Given the description of an element on the screen output the (x, y) to click on. 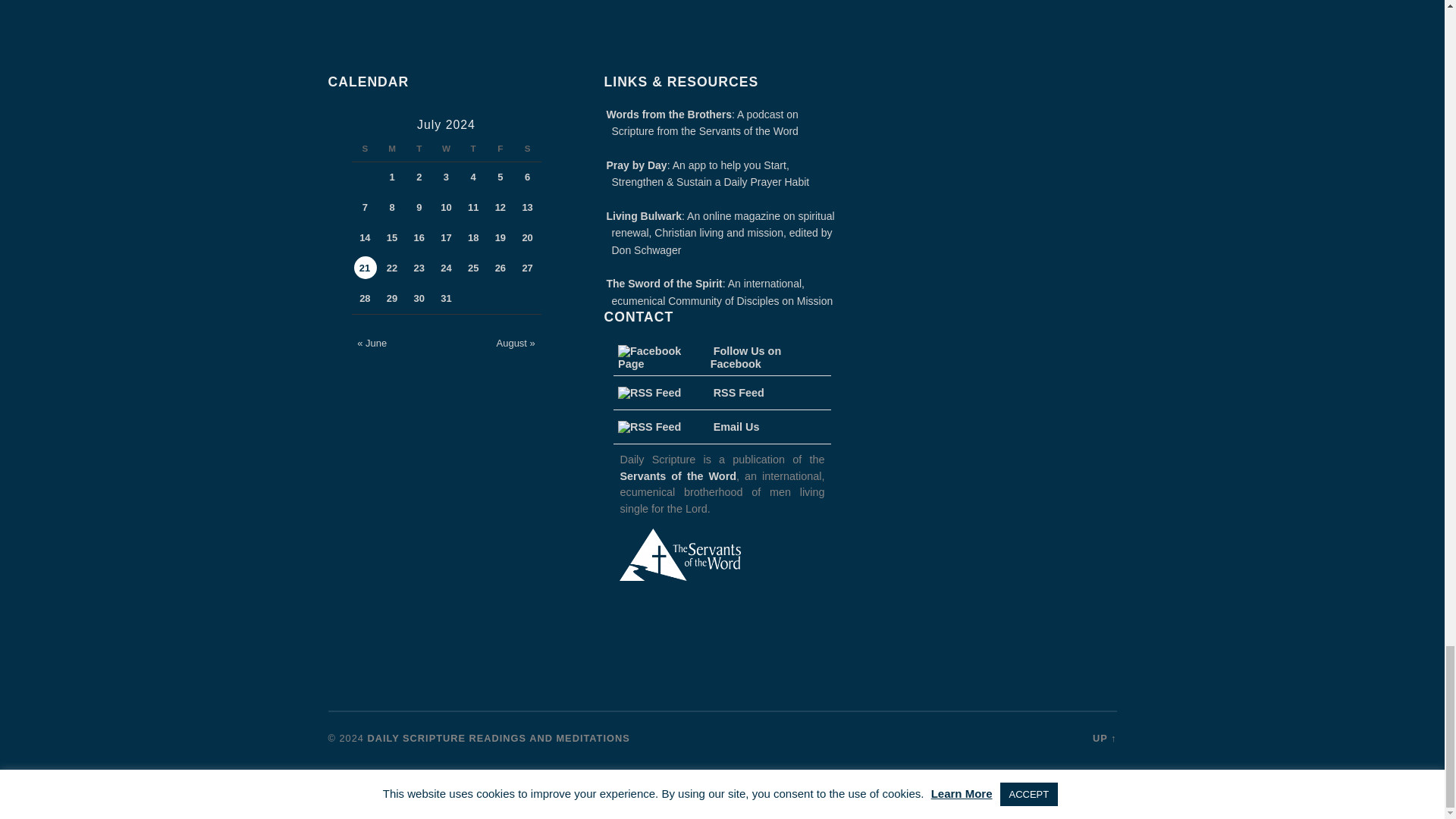
Sunday (365, 148)
Wednesday (446, 148)
Tuesday (419, 148)
Monday (392, 148)
